Given the description of an element on the screen output the (x, y) to click on. 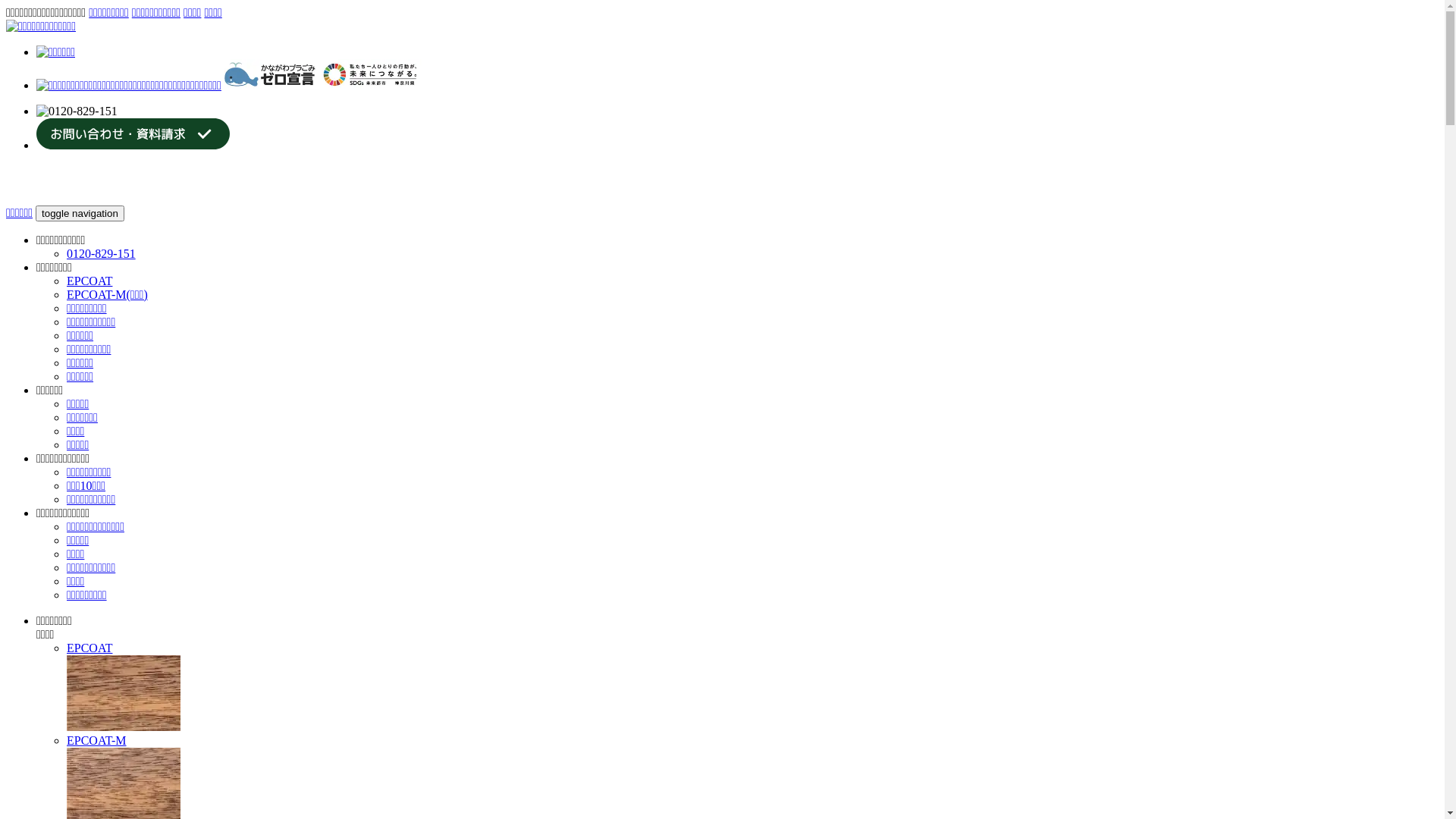
toggle navigation Element type: text (79, 213)
EPCOAT Element type: hover (123, 693)
EPCOAT Element type: text (752, 687)
EPCOAT Element type: text (89, 280)
0120-829-151 Element type: hover (76, 111)
0120-829-151 Element type: text (100, 253)
